Given the description of an element on the screen output the (x, y) to click on. 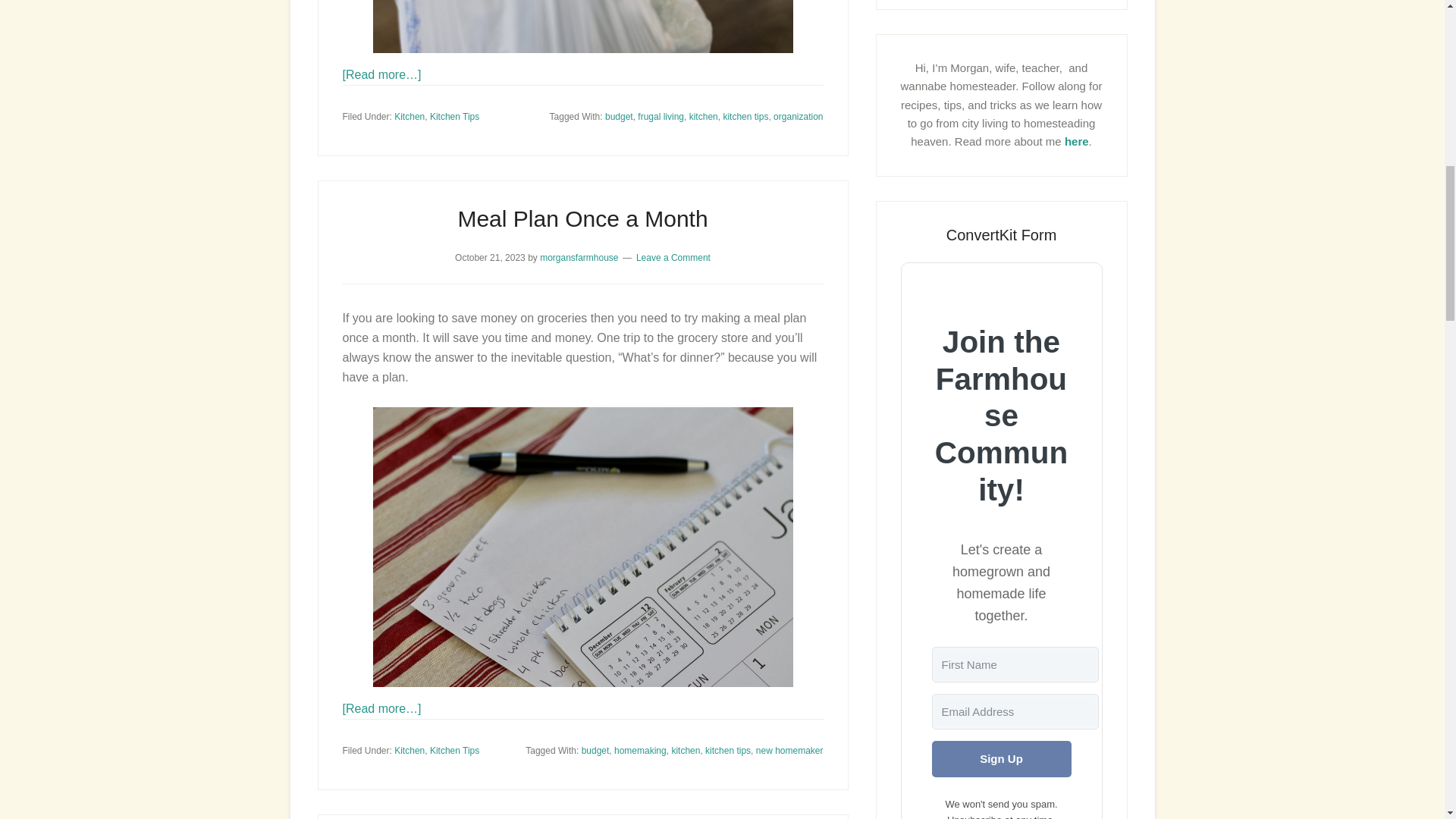
Kitchen (409, 116)
budget (619, 116)
Kitchen Tips (454, 116)
